Given the description of an element on the screen output the (x, y) to click on. 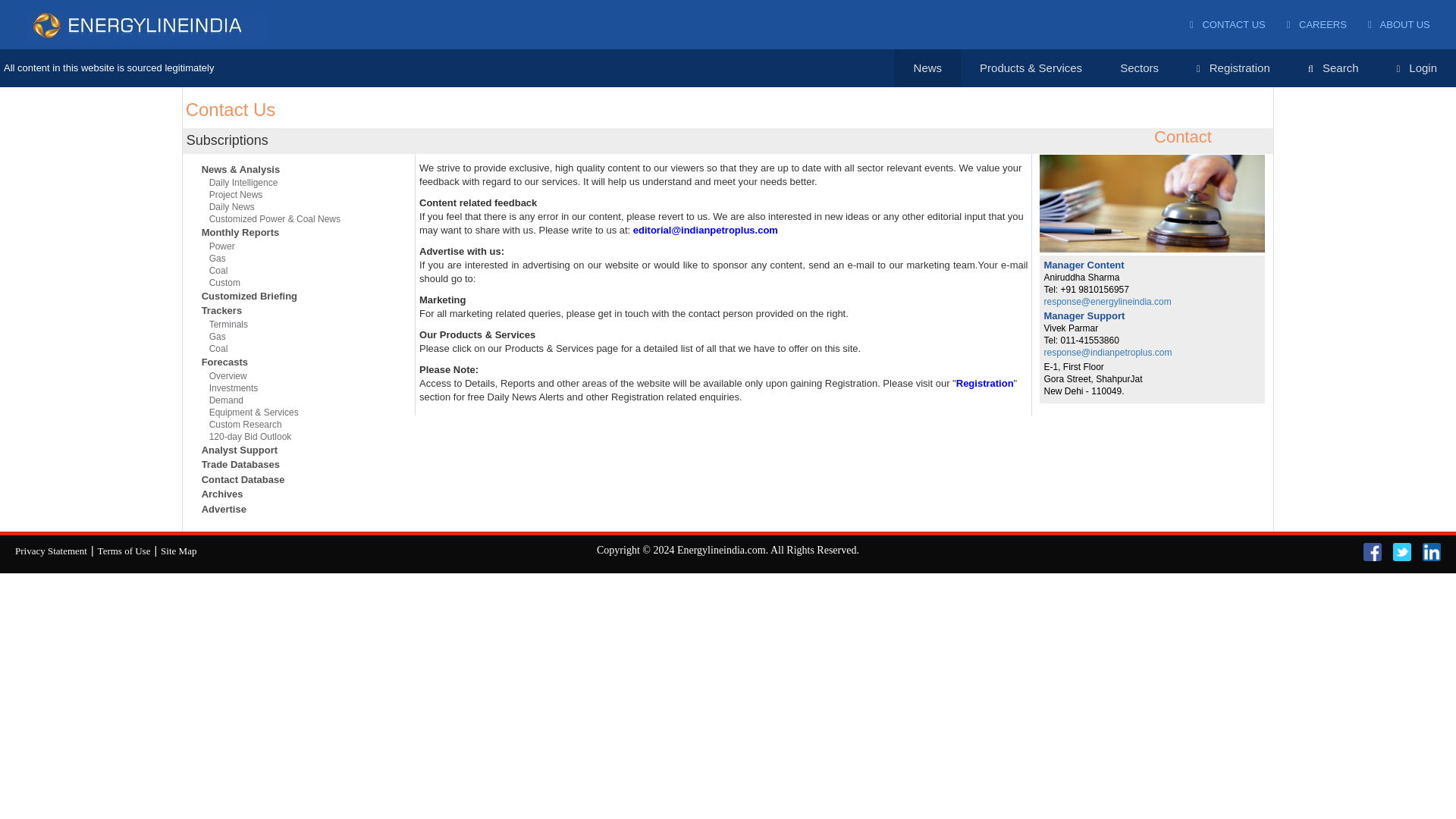
Gas (298, 258)
Registration (1232, 68)
News (927, 67)
Sectors (1138, 67)
Monthly Reports (295, 233)
Power (298, 246)
Daily News (298, 206)
Daily Intelligence (298, 183)
Search (1332, 68)
CONTACT US (1227, 24)
Project News (298, 194)
CAREERS (1316, 24)
ABOUT US (1398, 24)
